Given the description of an element on the screen output the (x, y) to click on. 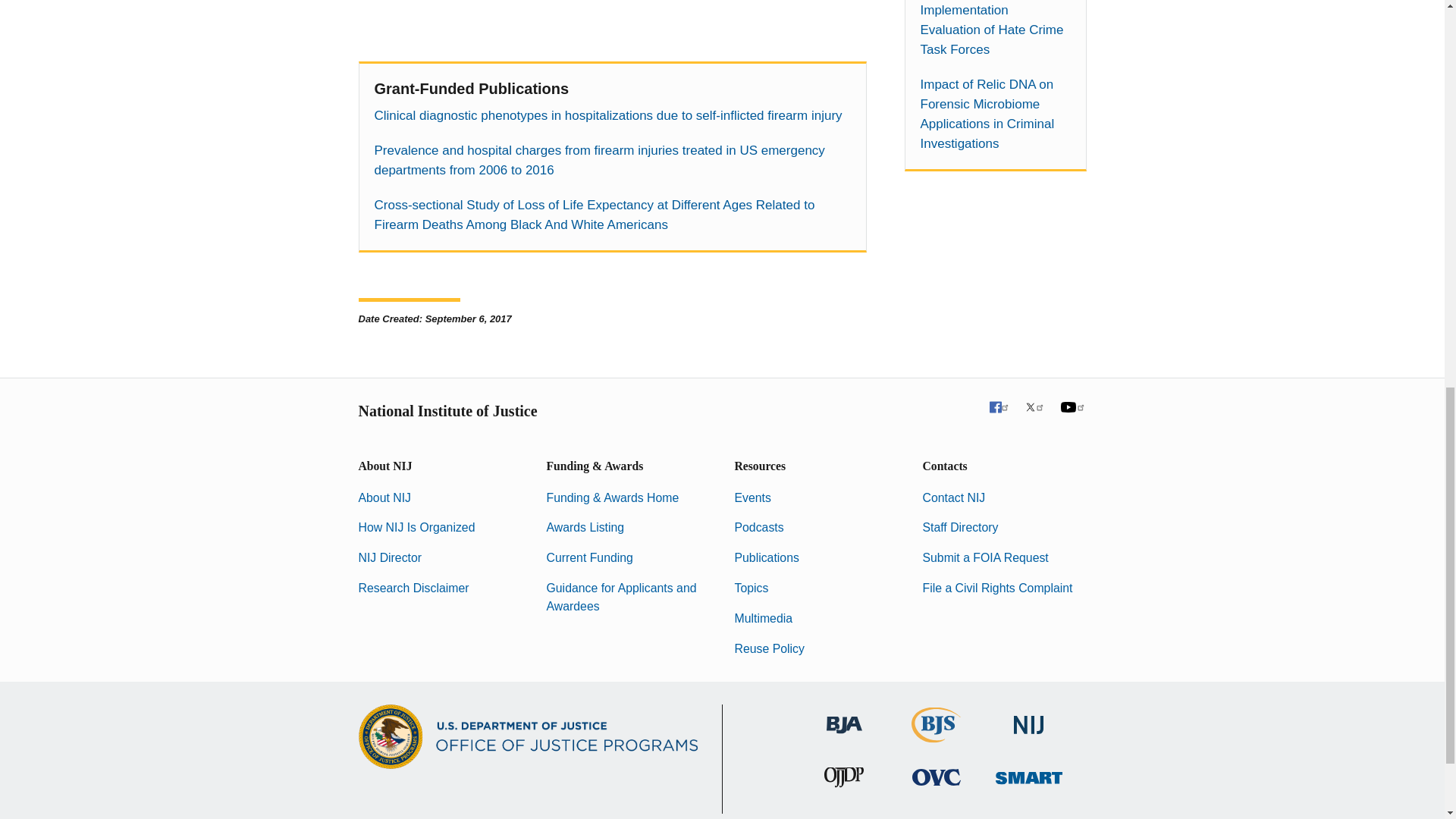
Implementation Evaluation of Hate Crime Task Forces (995, 29)
